Given the description of an element on the screen output the (x, y) to click on. 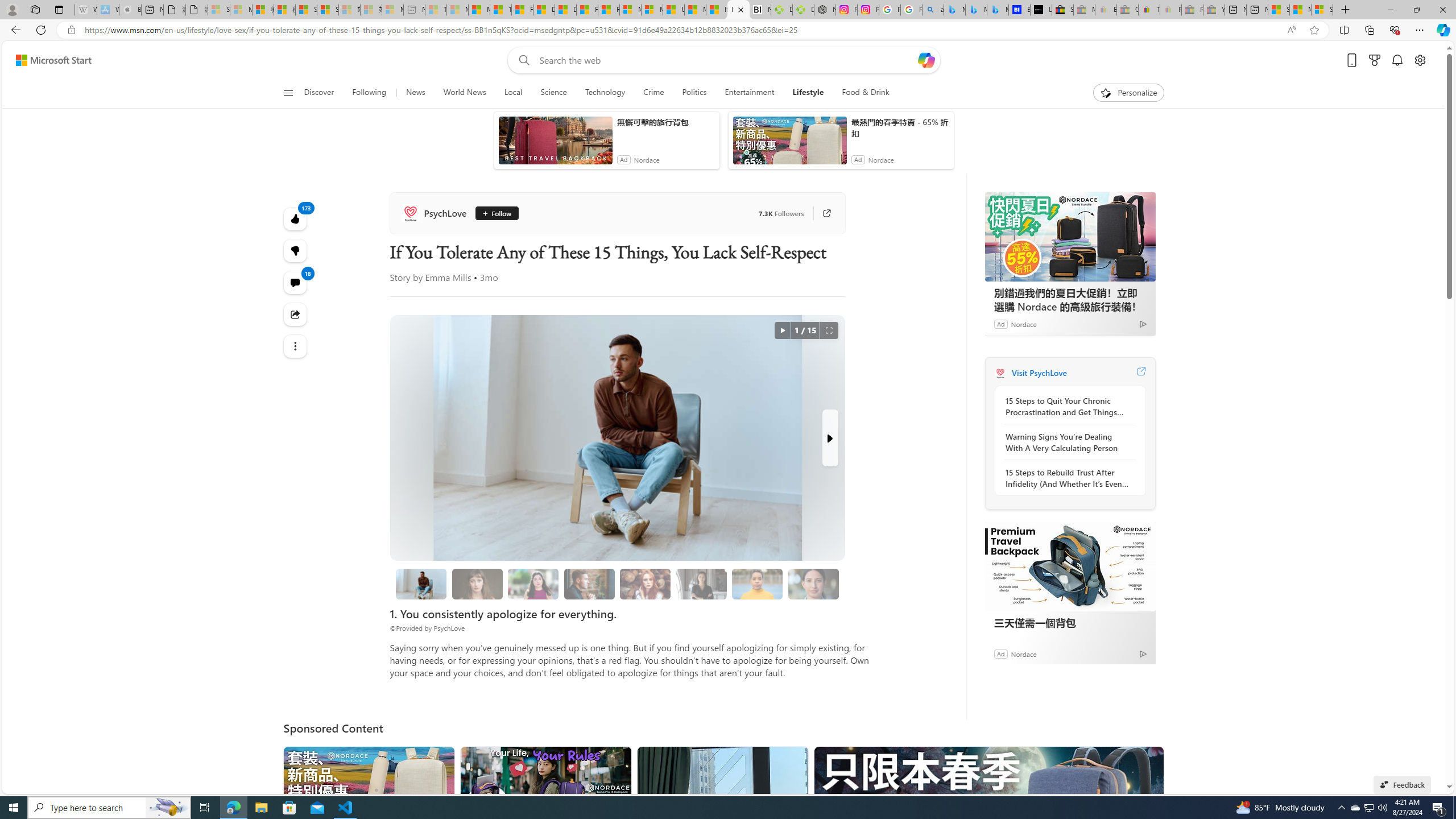
Drinking tea every day is proven to delay biological aging (565, 9)
New tab - Sleeping (413, 9)
Science (553, 92)
4. You can name and understand your feelings. (533, 583)
Crime (653, 92)
Shanghai, China hourly forecast | Microsoft Weather (1278, 9)
Share this story (295, 314)
Threats and offensive language policy | eBay (1149, 9)
